Given the description of an element on the screen output the (x, y) to click on. 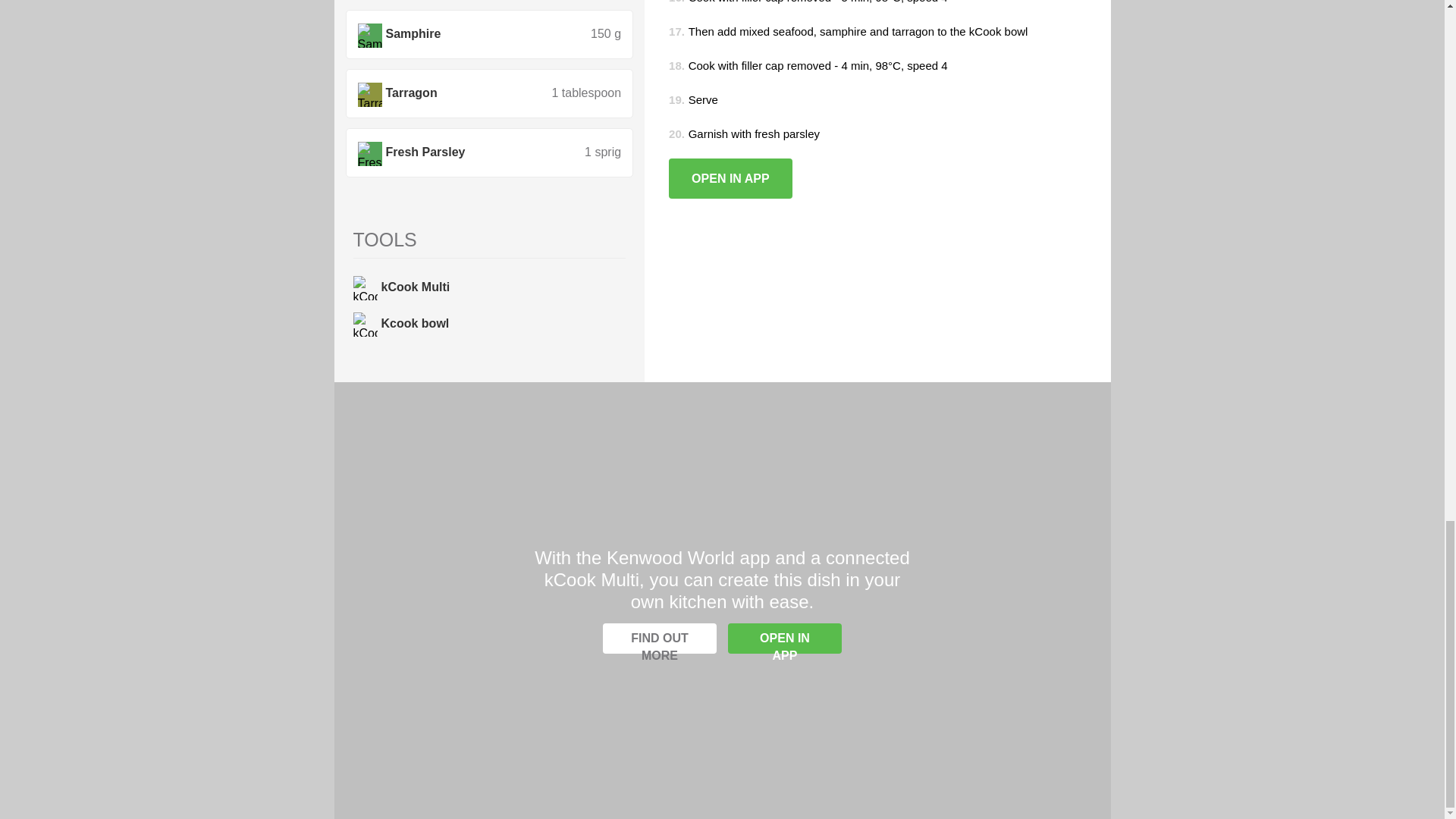
OPEN IN APP (730, 178)
FIND OUT MORE (659, 638)
OPEN IN APP (784, 638)
